Given the description of an element on the screen output the (x, y) to click on. 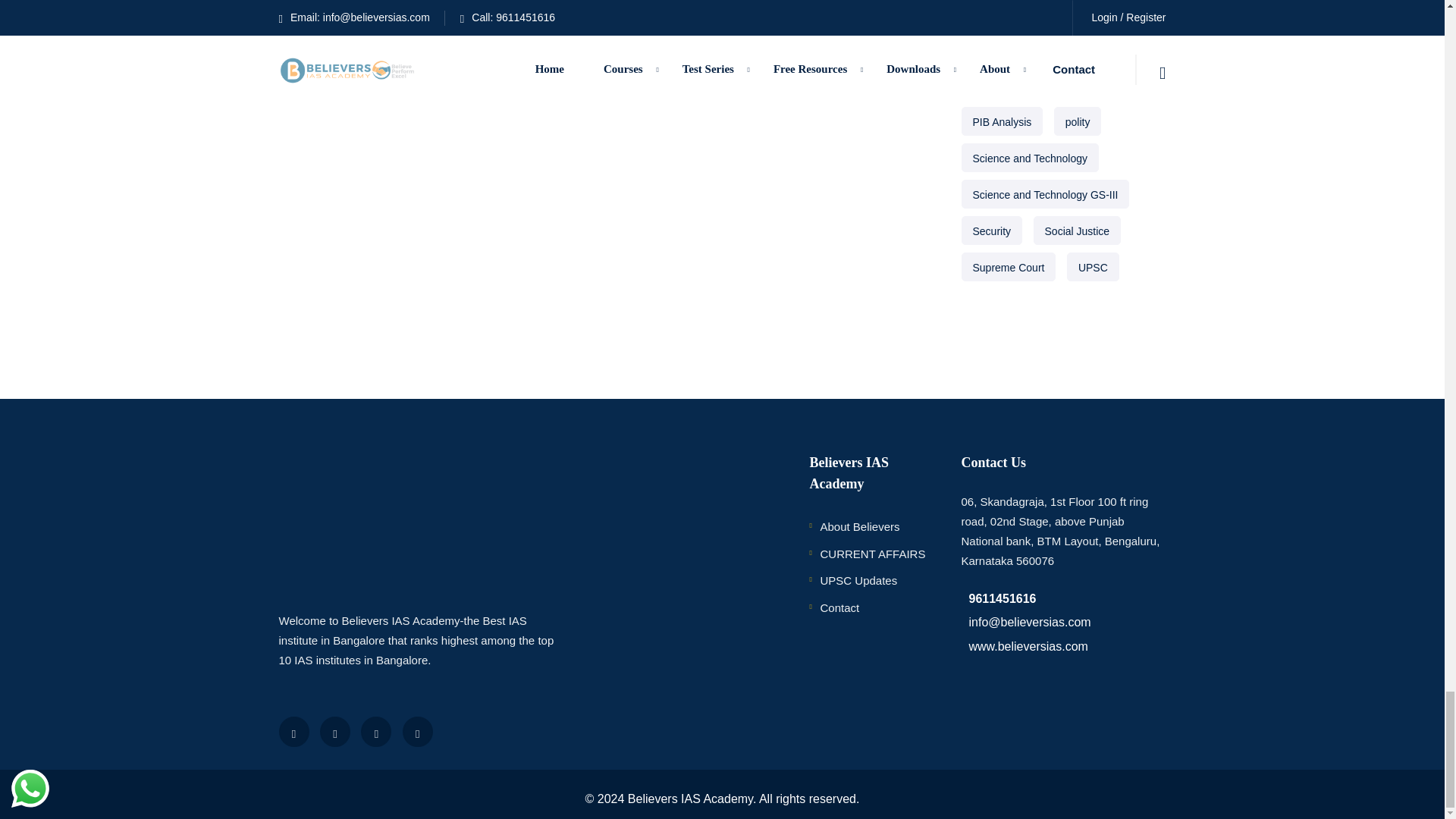
Twitter (335, 731)
Youtube (376, 731)
Facebook (293, 731)
Instagram (417, 731)
